Given the description of an element on the screen output the (x, y) to click on. 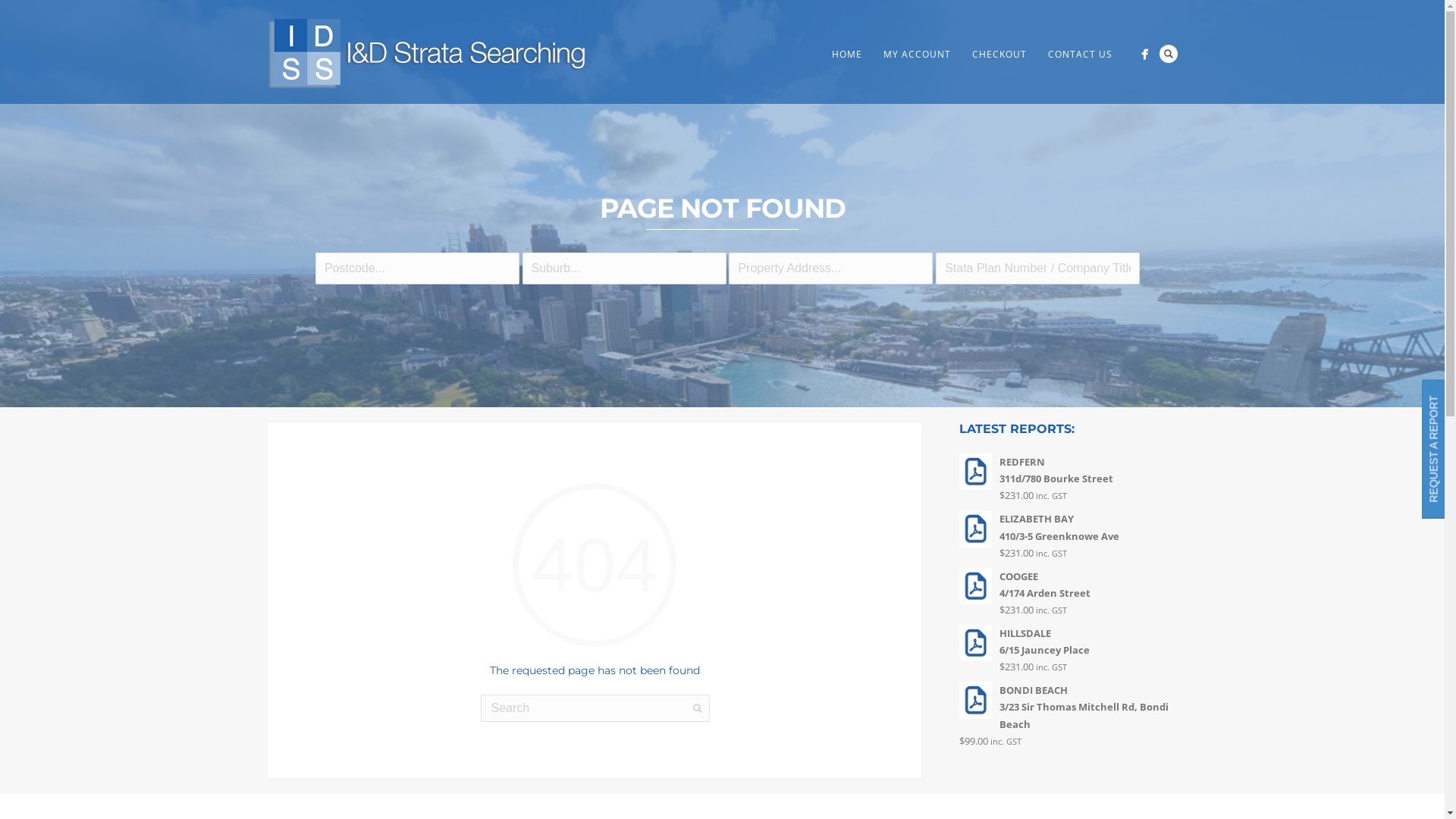
HILLSDALE
6/15 Jauncey Place Element type: text (1067, 641)
MY ACCOUNT Element type: text (916, 54)
ELIZABETH BAY
410/3-5 Greenknowe Ave Element type: text (1067, 526)
BONDI BEACH
3/23 Sir Thomas Mitchell Rd, Bondi Beach Element type: text (1067, 706)
HOME Element type: text (846, 54)
Follow Us on Facebook Element type: hover (1143, 53)
CONTACT US Element type: text (1080, 54)
Search Element type: text (1167, 53)
CHECKOUT Element type: text (999, 54)
COOGEE
4/174 Arden Street Element type: text (1067, 584)
REDFERN
311d/780 Bourke Street Element type: text (1067, 469)
